Given the description of an element on the screen output the (x, y) to click on. 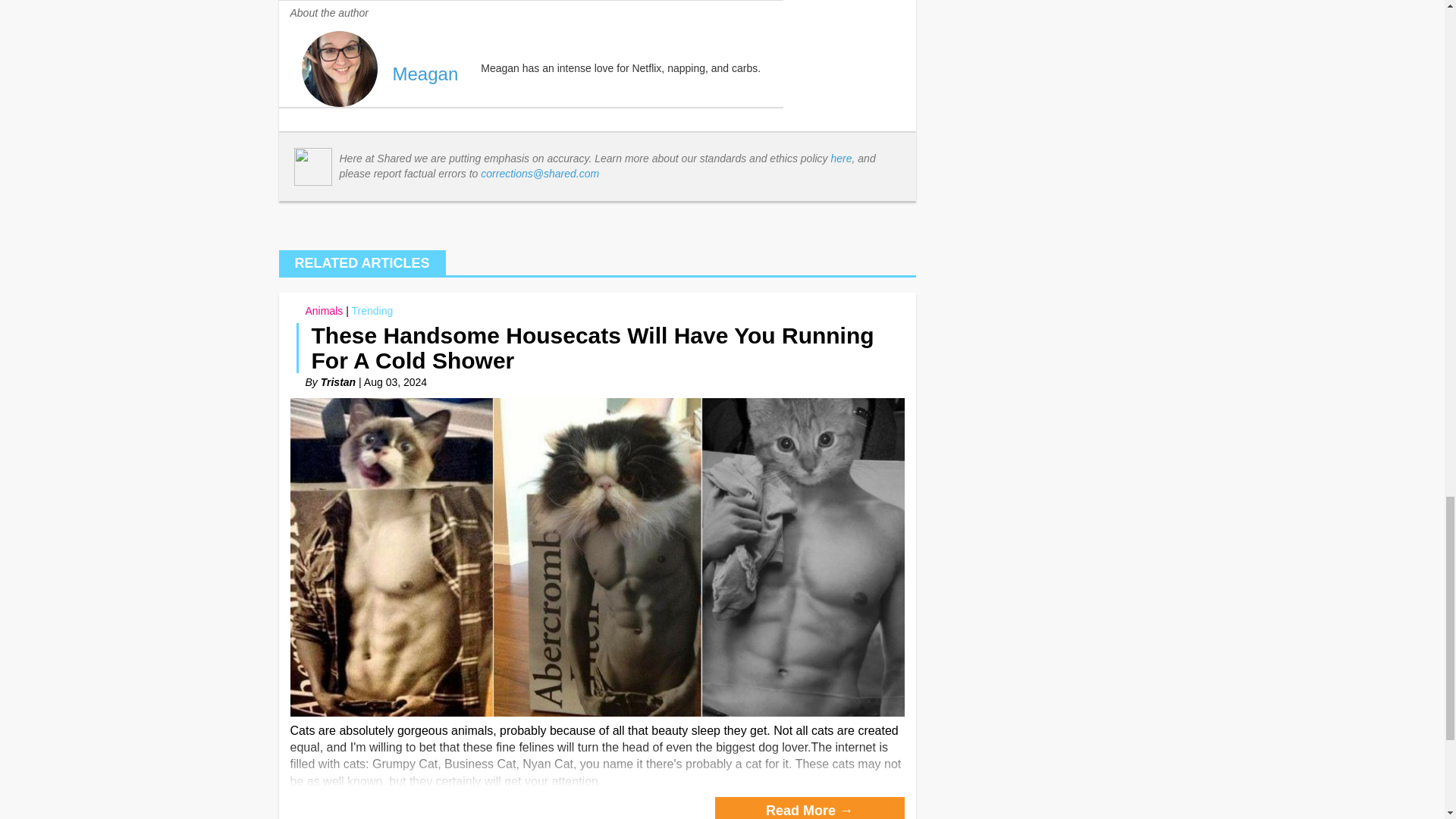
Animals (323, 310)
Trending (371, 310)
here (841, 158)
Meagan (425, 73)
Tristan's Profile (337, 381)
Tristan (337, 381)
